Given the description of an element on the screen output the (x, y) to click on. 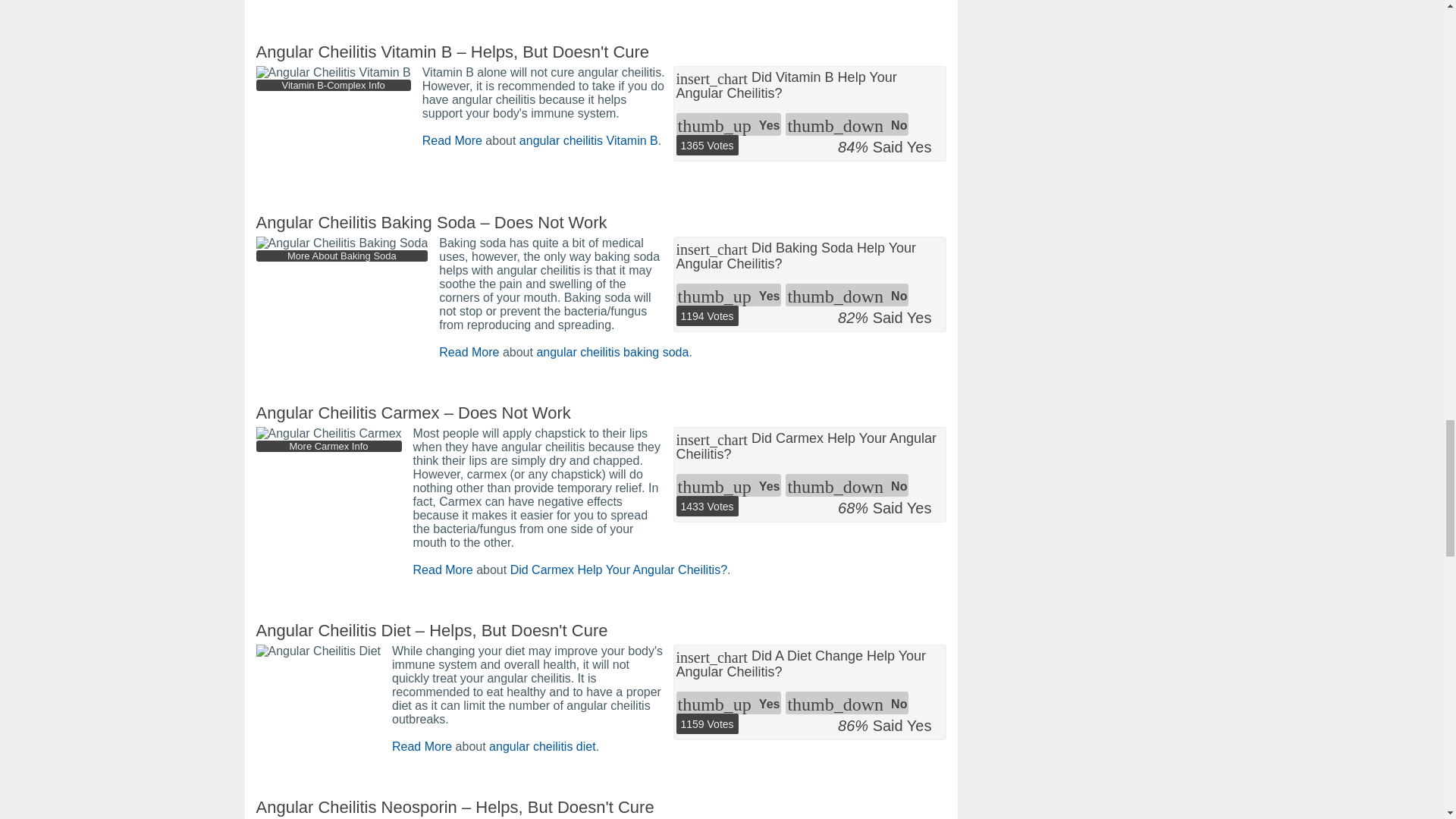
angular cheilitis diet (542, 746)
Read More (443, 569)
Did Carmex Help Your Angular Cheilitis? (618, 569)
angular cheilitis baking soda (611, 351)
Read More (469, 351)
Read More (421, 746)
Read More (451, 140)
angular cheilitis Vitamin B (588, 140)
